Given the description of an element on the screen output the (x, y) to click on. 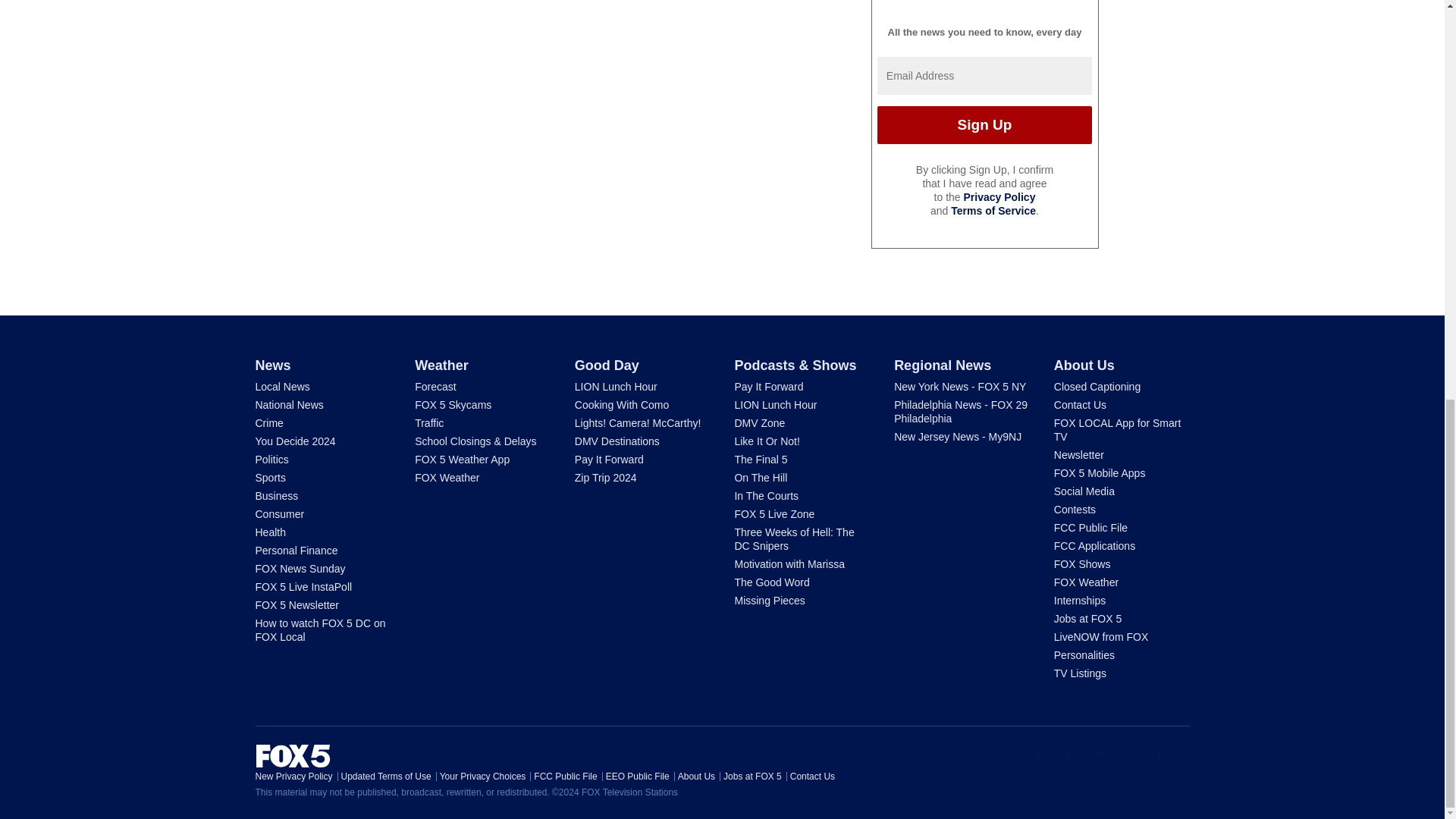
Sign Up (984, 125)
